Given the description of an element on the screen output the (x, y) to click on. 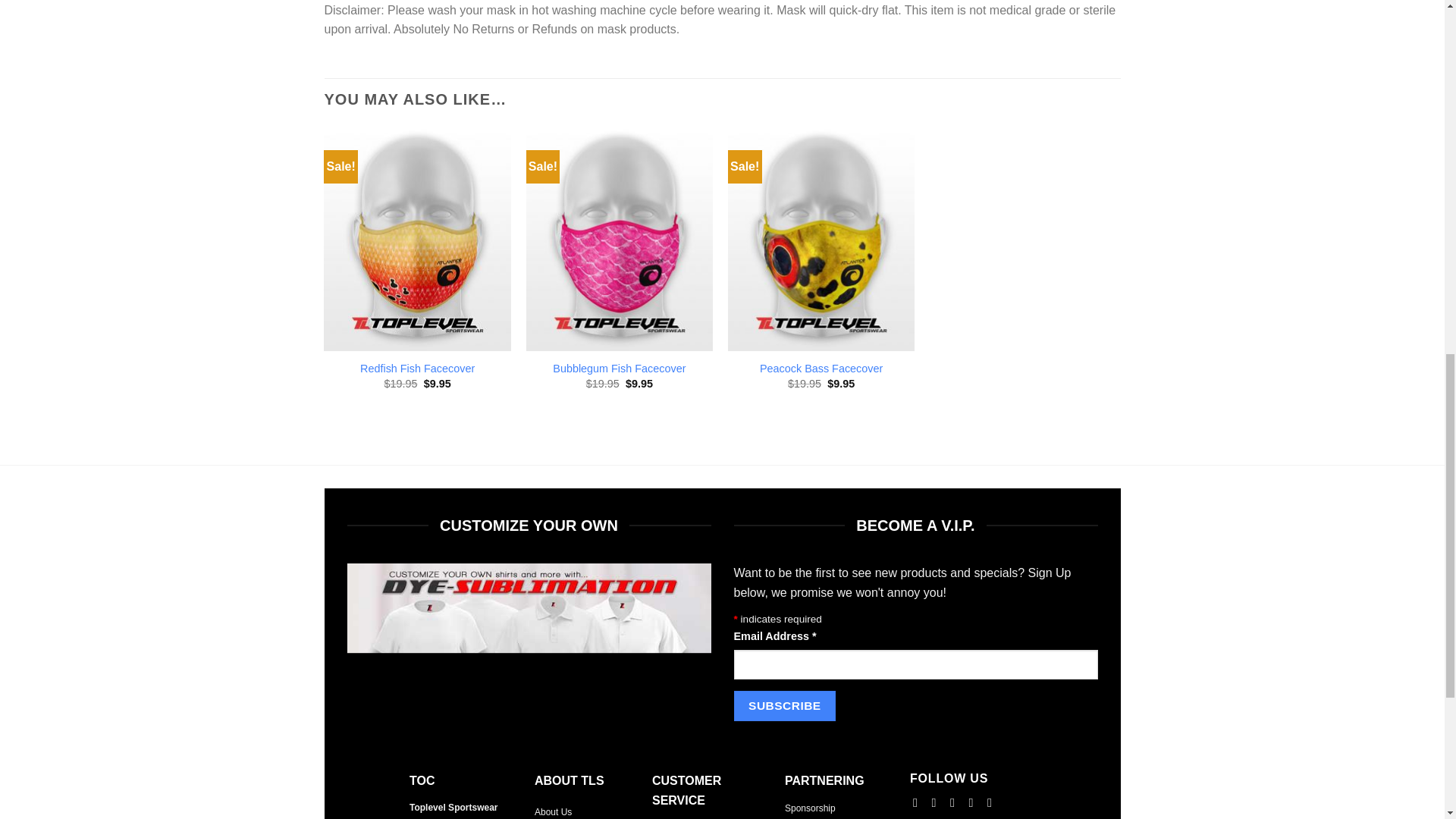
Follow on Facebook (918, 802)
Bubblegum Fish Facecover (619, 368)
Subscribe (784, 705)
Follow on Twitter (956, 802)
Follow on Instagram (937, 802)
Redfish Fish Facecover (416, 368)
